Given the description of an element on the screen output the (x, y) to click on. 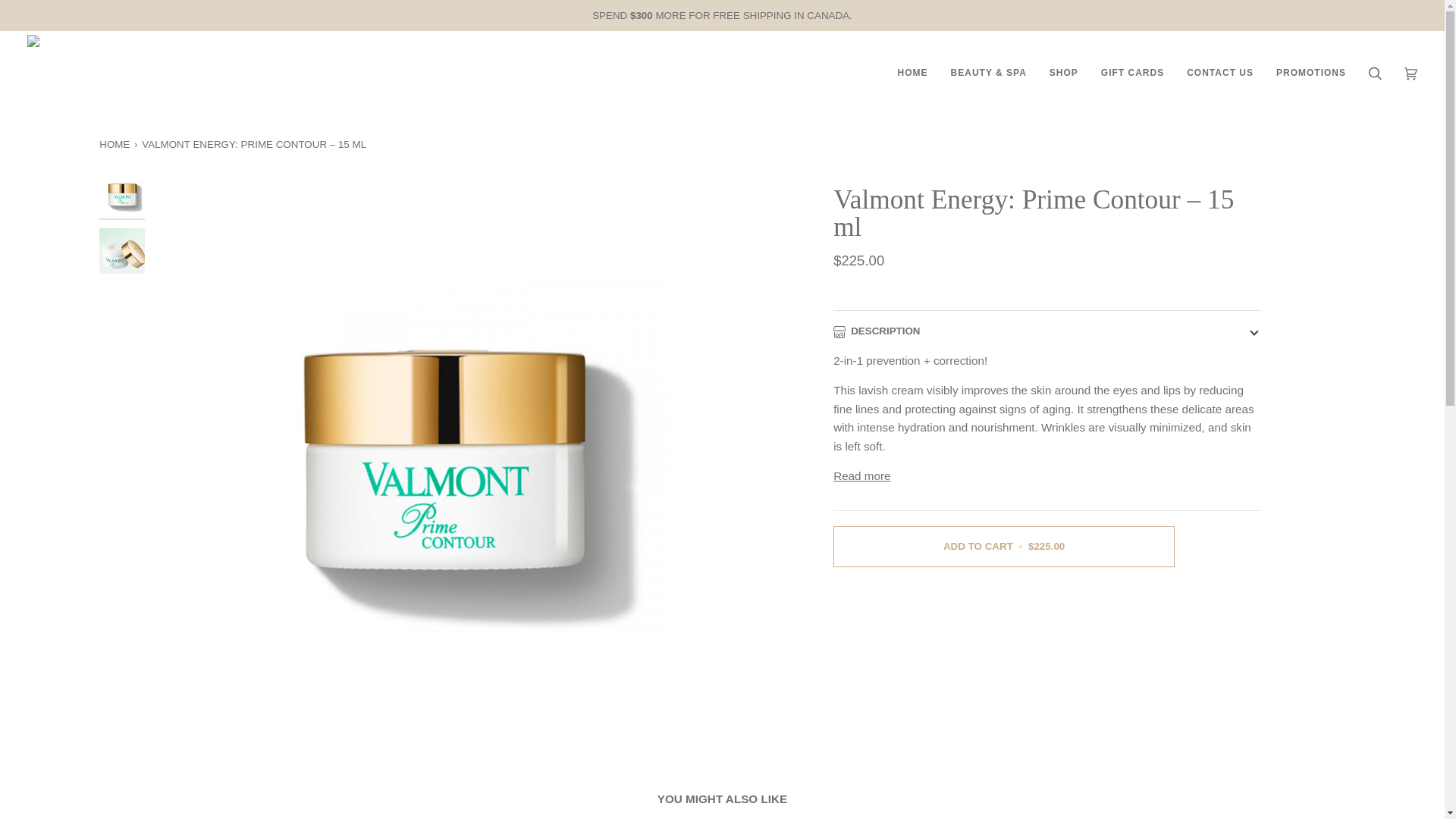
GIFT CARDS (1131, 73)
Back to the frontpage (115, 144)
PROMOTIONS (1310, 73)
CONTACT US (1219, 73)
